Given the description of an element on the screen output the (x, y) to click on. 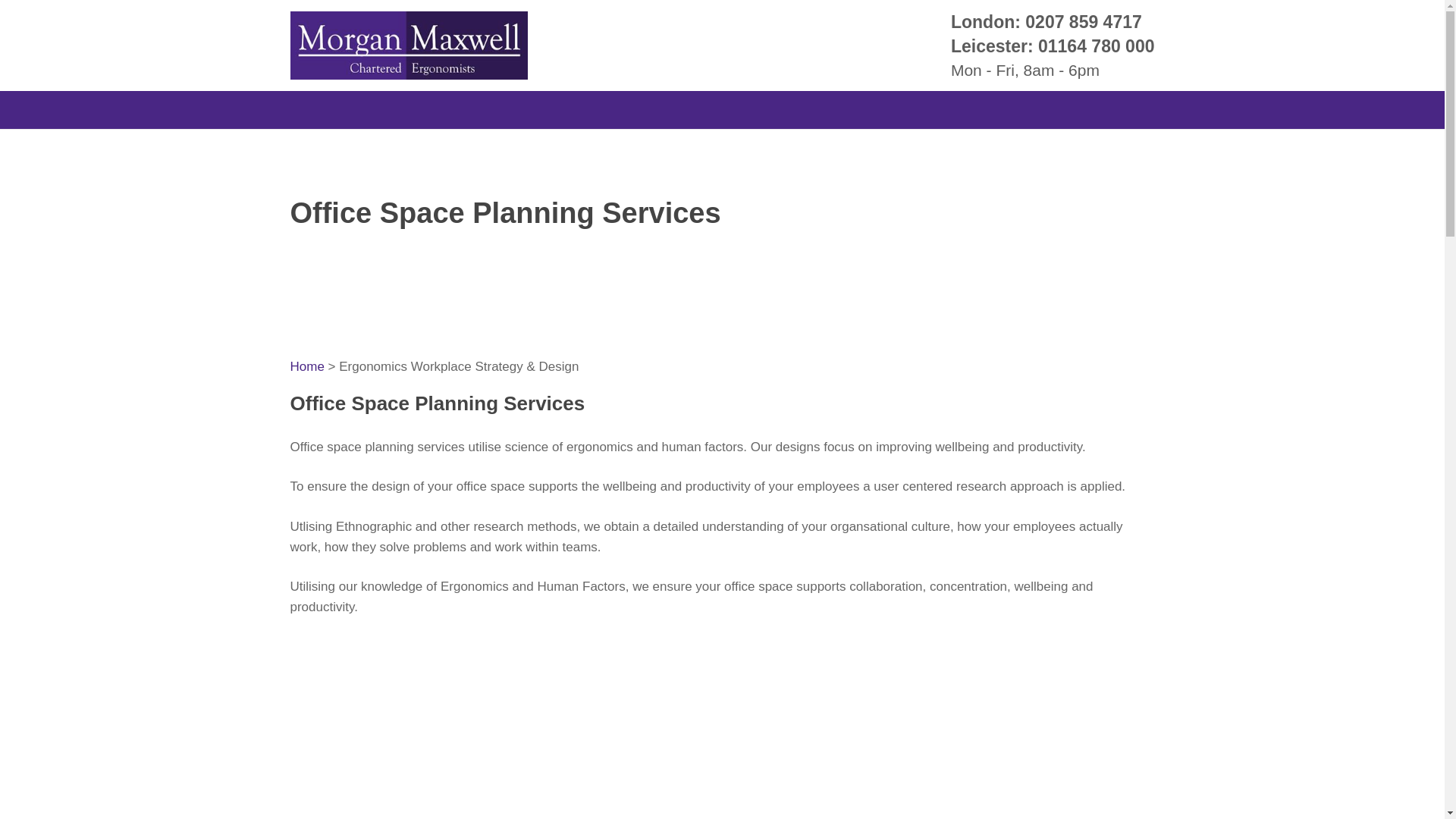
01164 780 000 (1096, 46)
Home (306, 366)
0207 859 4717 (1083, 21)
Go to Morgan Maxwell. (306, 366)
